Given the description of an element on the screen output the (x, y) to click on. 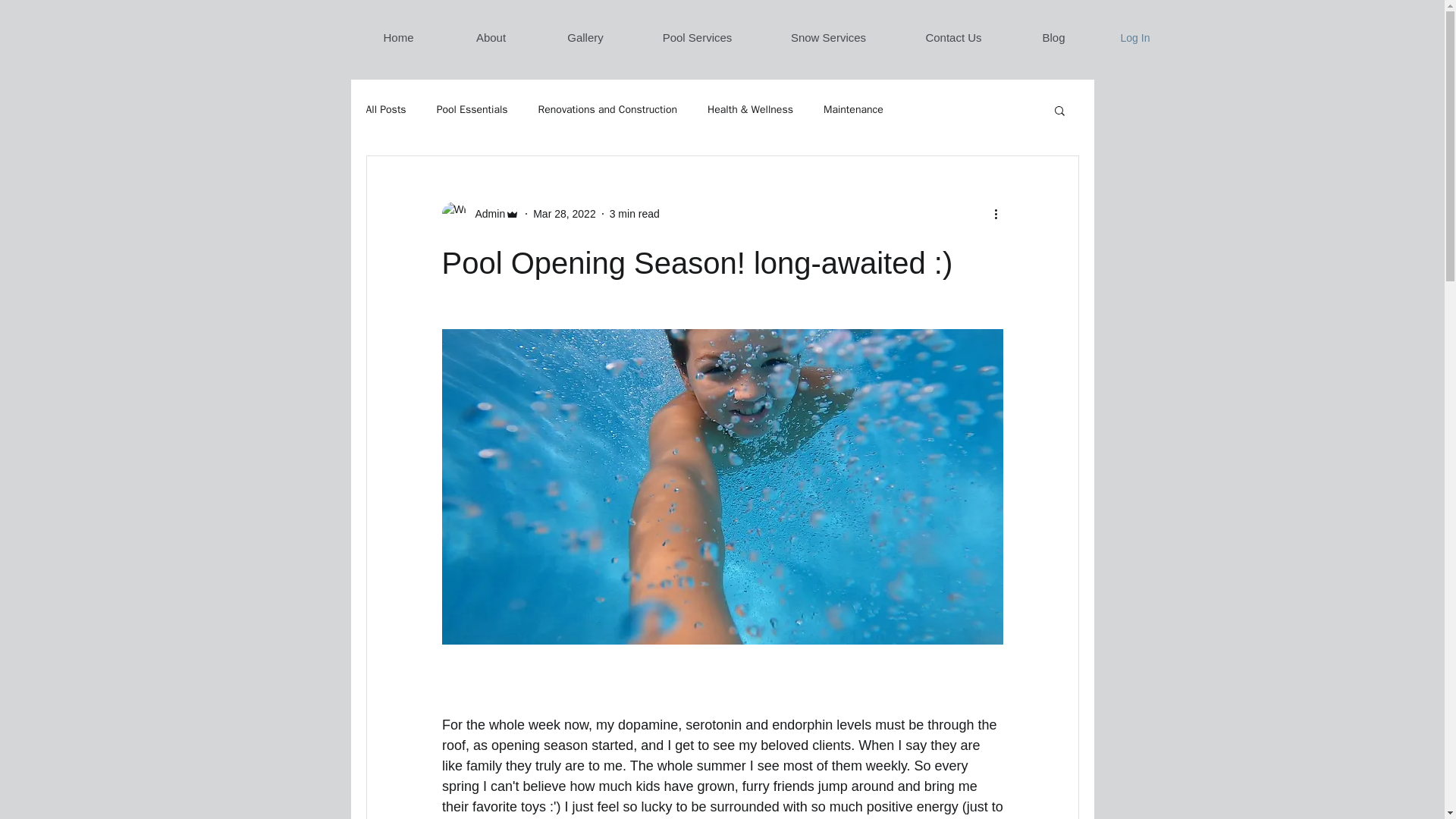
Blog (1053, 37)
Admin (480, 213)
Mar 28, 2022 (563, 214)
Maintenance (853, 110)
Gallery (585, 37)
3 min read (634, 214)
All Posts (385, 110)
Contact Us (954, 37)
About (490, 37)
Snow Services (827, 37)
